Given the description of an element on the screen output the (x, y) to click on. 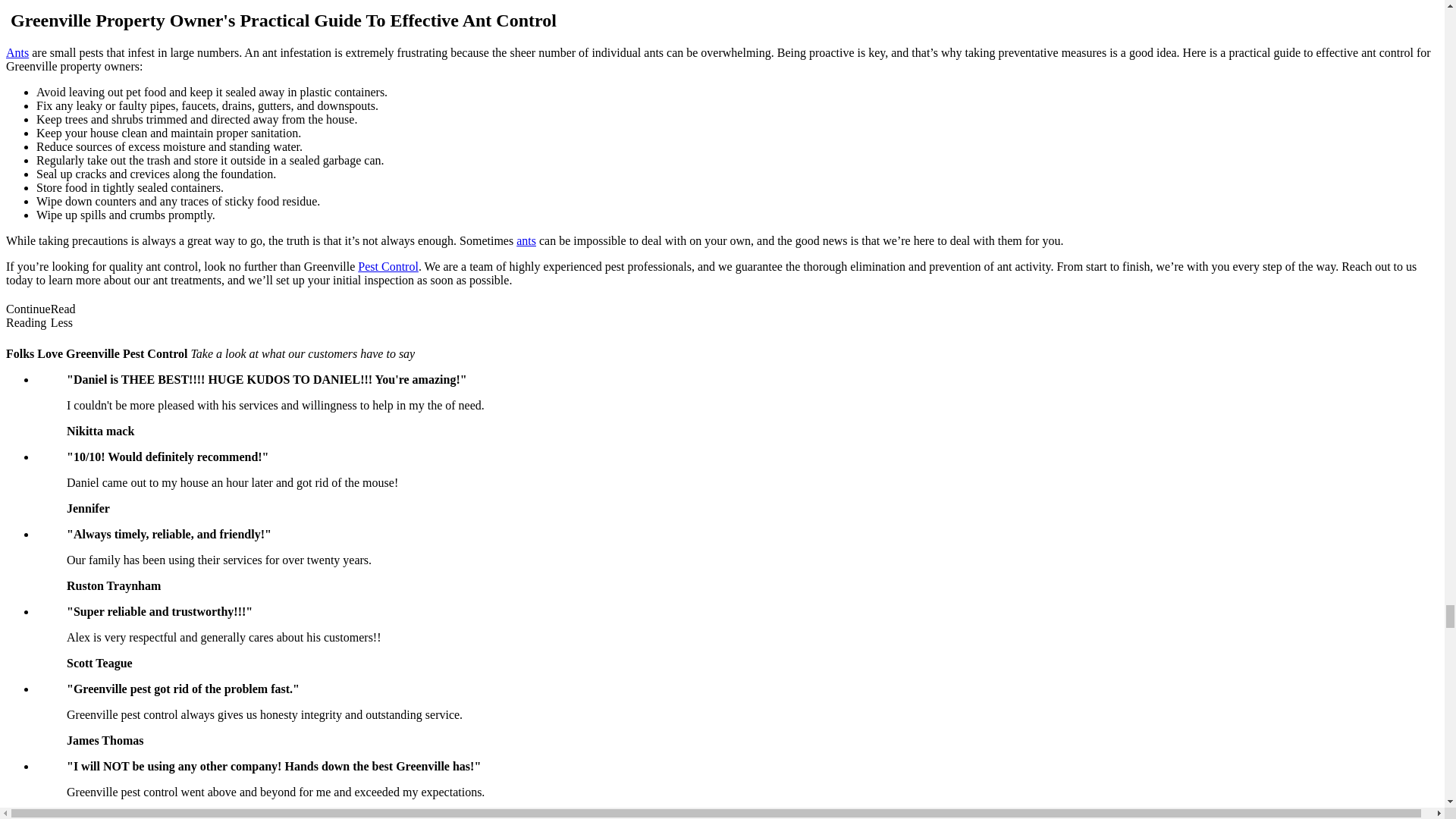
Close (127, 316)
More (92, 316)
